Given the description of an element on the screen output the (x, y) to click on. 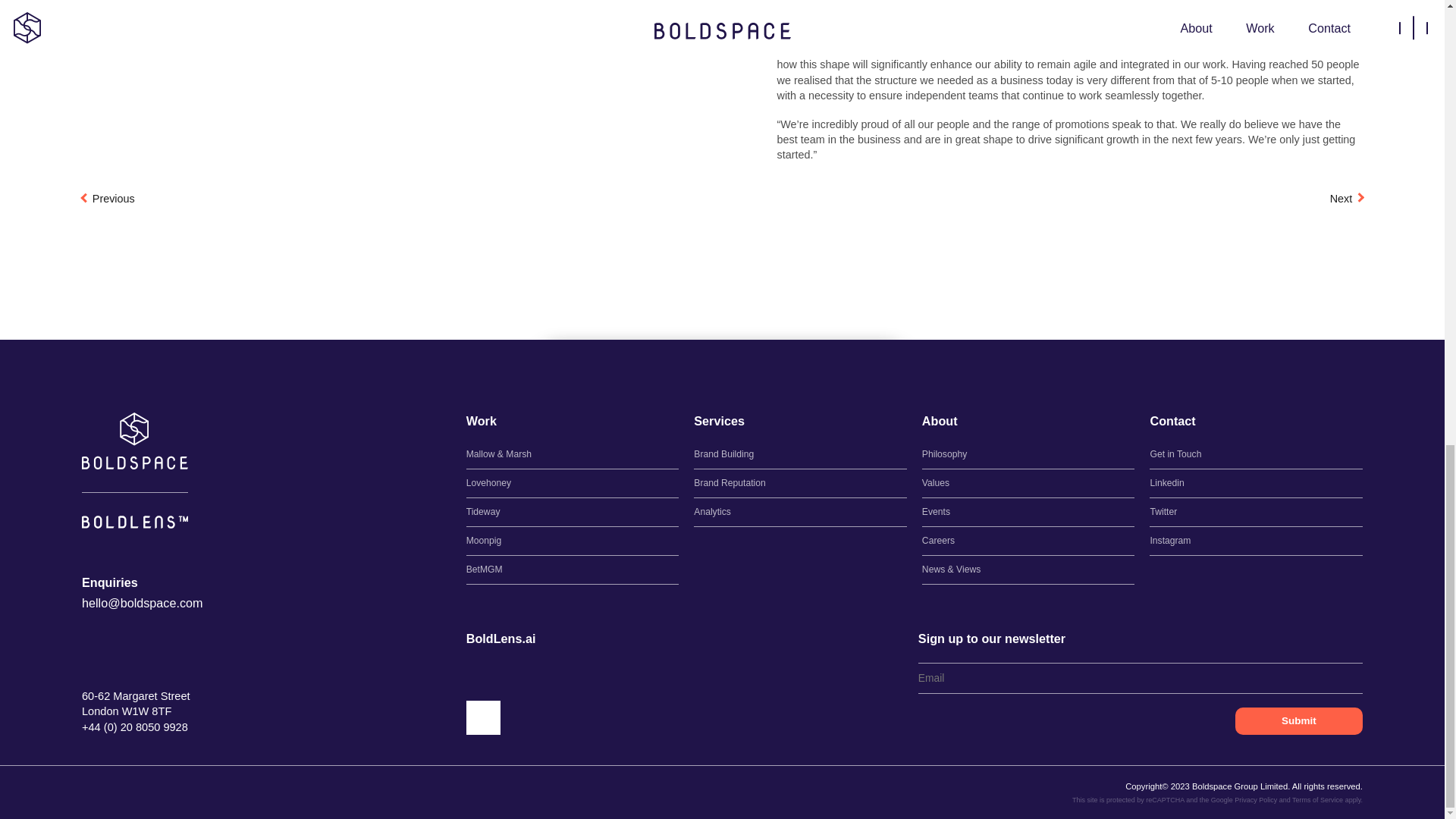
Brand Reputation (800, 483)
Lovehoney (572, 483)
Brand Building (800, 454)
Previous (108, 198)
Tideway (572, 511)
Services (719, 420)
Next (1346, 198)
Work (480, 420)
Moonpig (572, 541)
BetMGM (572, 569)
Submit (1298, 720)
